Given the description of an element on the screen output the (x, y) to click on. 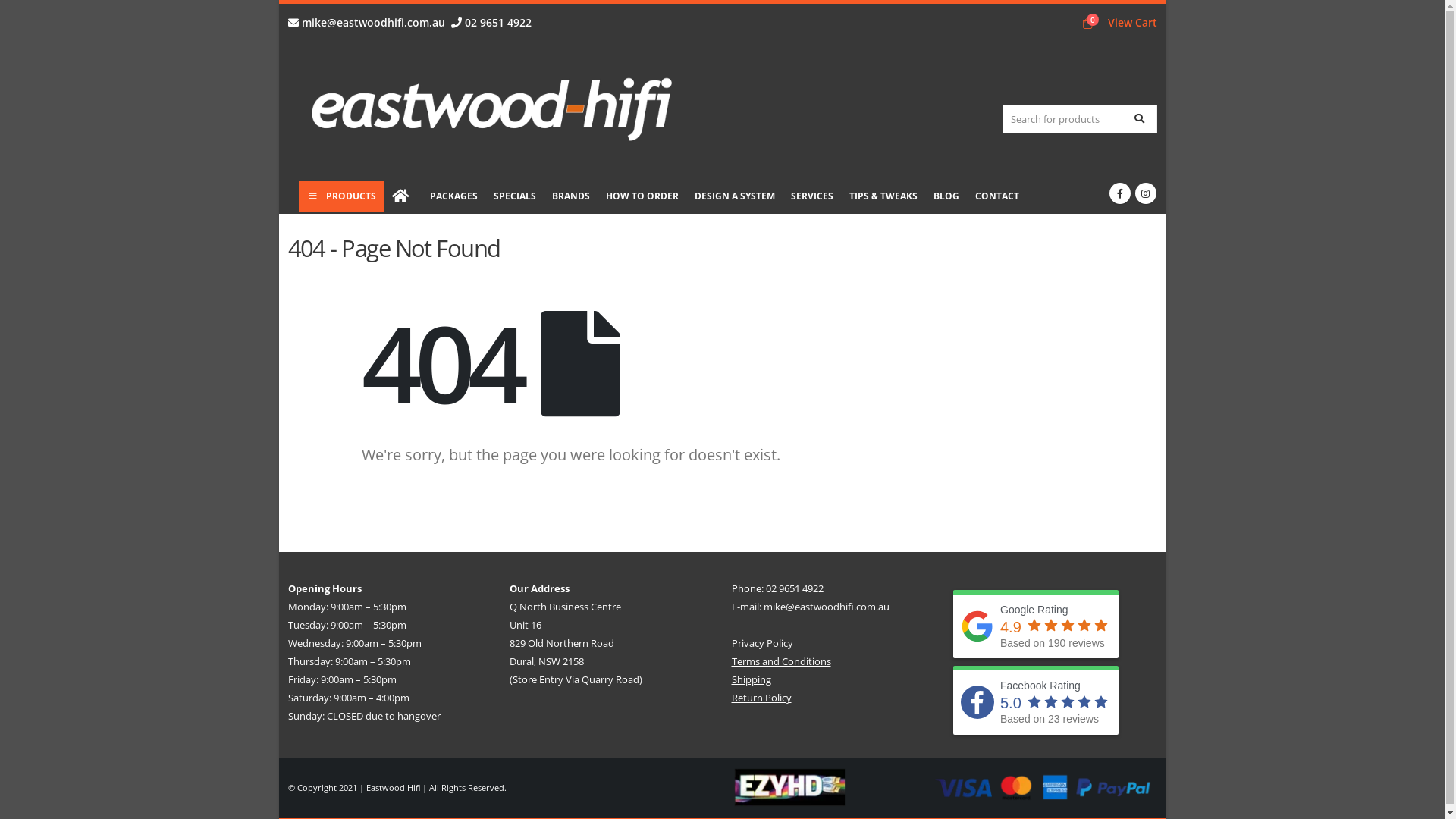
DESIGN A SYSTEM Element type: text (734, 196)
SPECIALS Element type: text (513, 196)
HOW TO ORDER Element type: text (641, 196)
Privacy Policy Element type: text (761, 643)
CONTACT Element type: text (996, 196)
SERVICES Element type: text (811, 196)
  Element type: text (401, 197)
Terms and Conditions Element type: text (780, 661)
Instagram Element type: hover (1144, 192)
TIPS & TWEAKS Element type: text (883, 196)
PACKAGES Element type: text (452, 196)
02 9651 4922 Element type: text (490, 22)
PRODUCTS Element type: text (340, 196)
Return Policy Element type: text (760, 697)
BRANDS Element type: text (570, 196)
Facebook Element type: hover (1118, 192)
Shipping Element type: text (750, 679)
mike@eastwoodhifi.com.au Element type: text (366, 22)
BLOG Element type: text (945, 196)
